Given the description of an element on the screen output the (x, y) to click on. 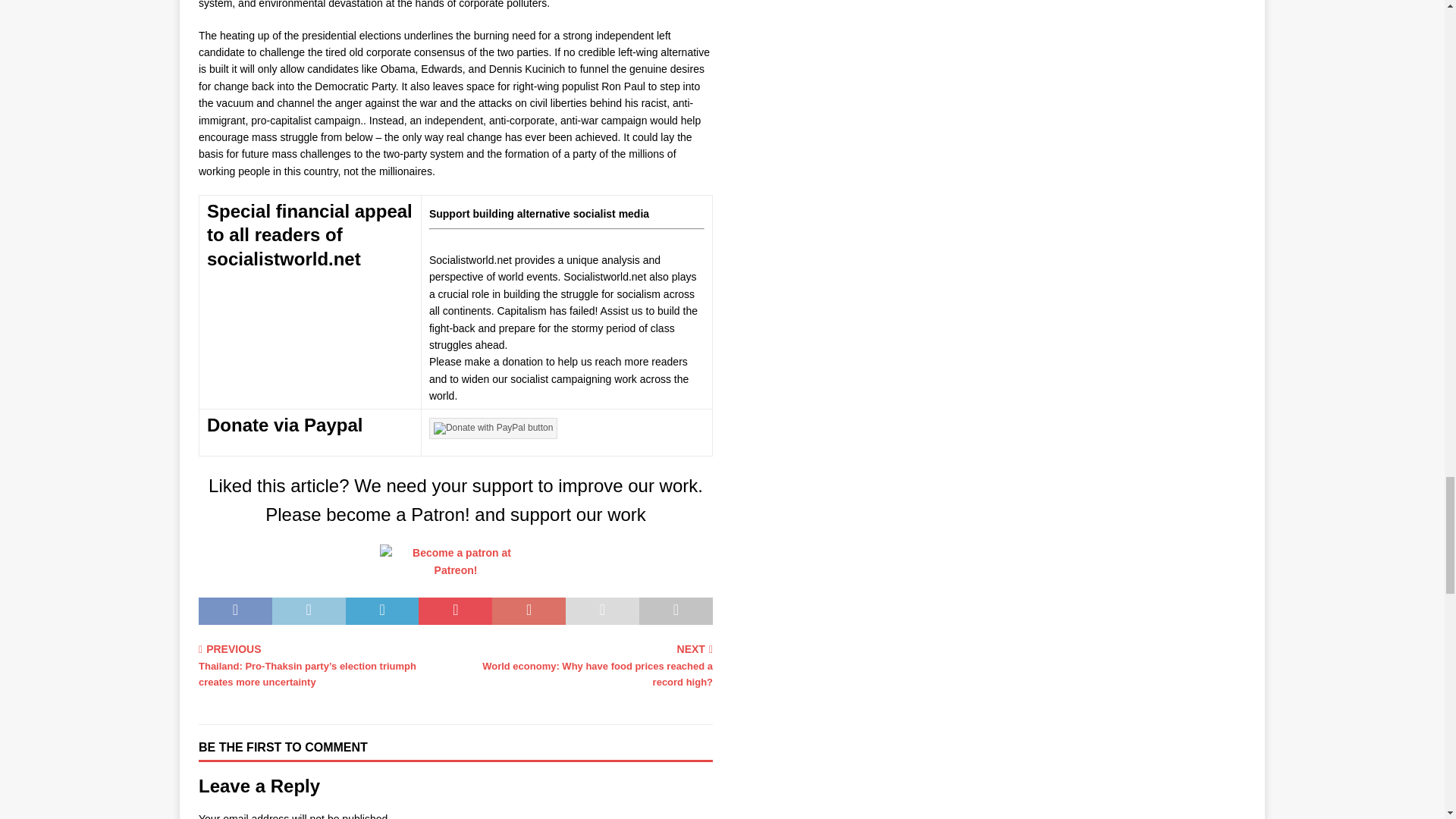
PayPal - The safer, easier way to pay online! (493, 427)
